Given the description of an element on the screen output the (x, y) to click on. 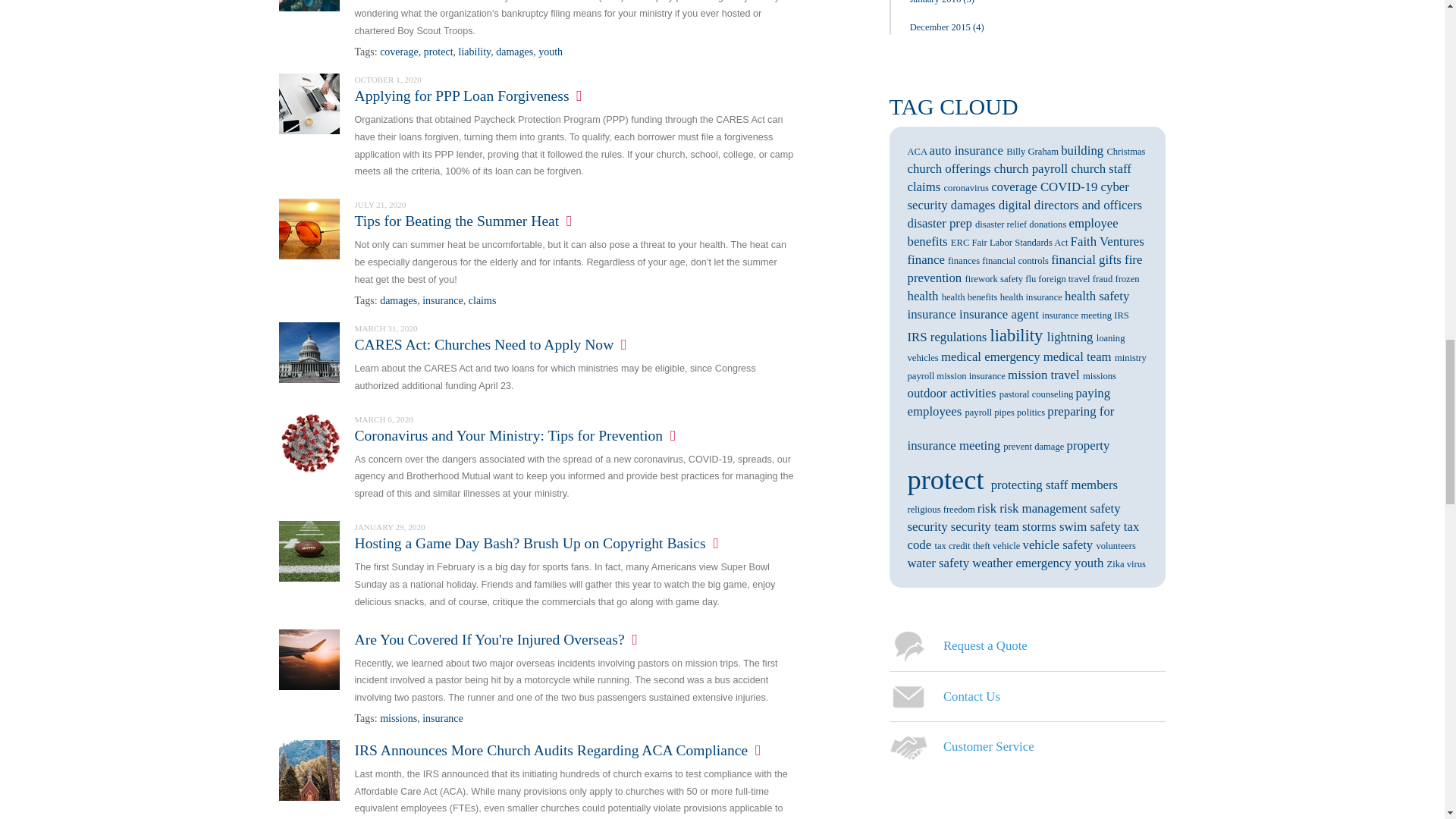
Coronavirus and Your Ministry: Tips for Prevention (309, 441)
UPDATED: CARES Act: Churches Need to Apply Now (309, 351)
Tips for Beating the Summer Heat (309, 228)
Applying for PPP Loan Forgiveness (309, 102)
IRS Announces More Church Audits Regarding ACA Compliance (309, 768)
Hosting a Game Day Bash? Brush Up on Copyright Basics (309, 550)
Are You Covered If You're Injured Overseas? (309, 658)
